Given the description of an element on the screen output the (x, y) to click on. 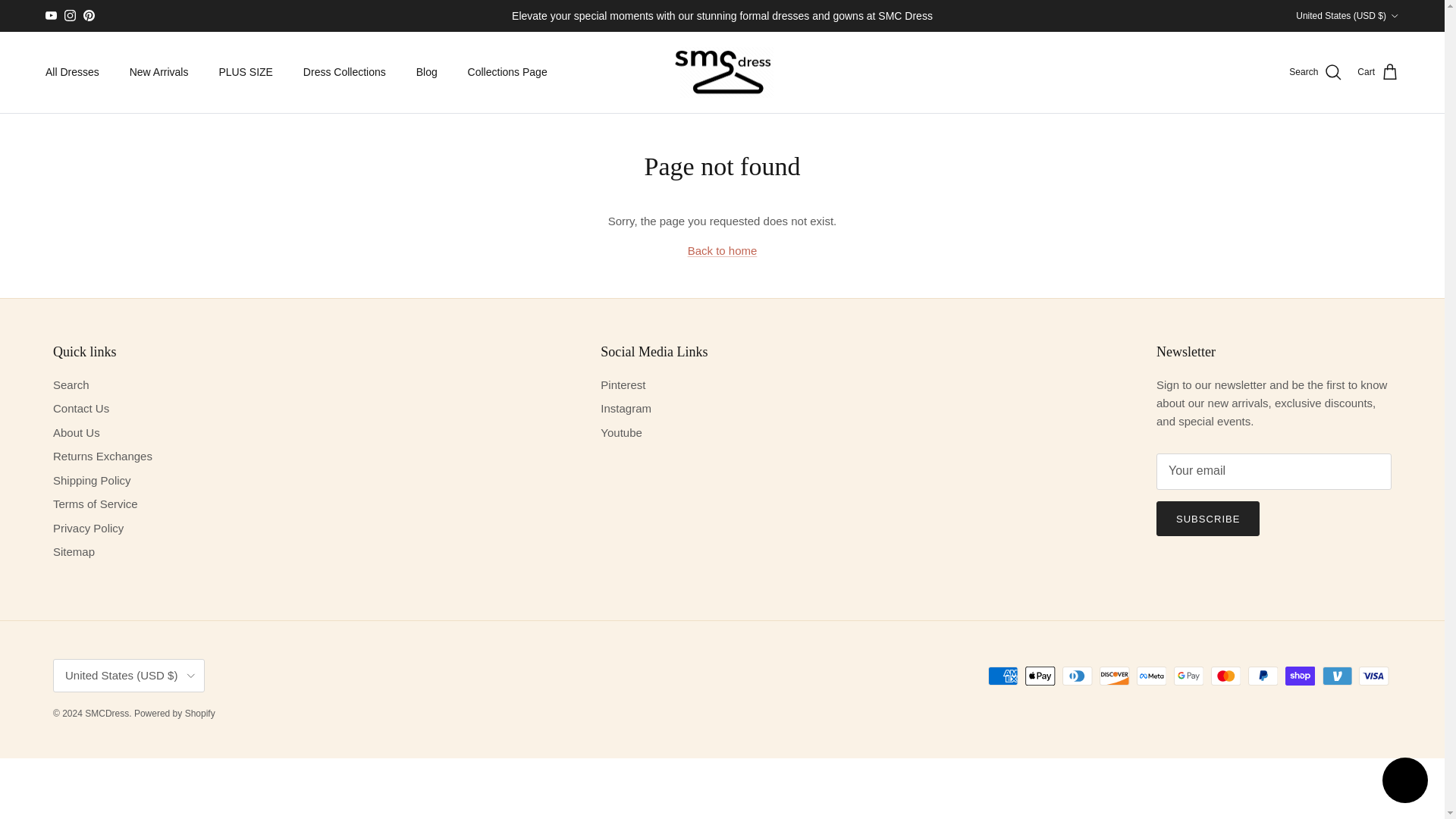
American Express (1002, 675)
SMCDress (722, 72)
Google Pay (1188, 675)
SMCDress on Instagram (69, 15)
All Dresses (72, 72)
Diners Club (1077, 675)
Meta Pay (1151, 675)
Apple Pay (1040, 675)
Shop Pay (1299, 675)
Cart (1377, 72)
